Given the description of an element on the screen output the (x, y) to click on. 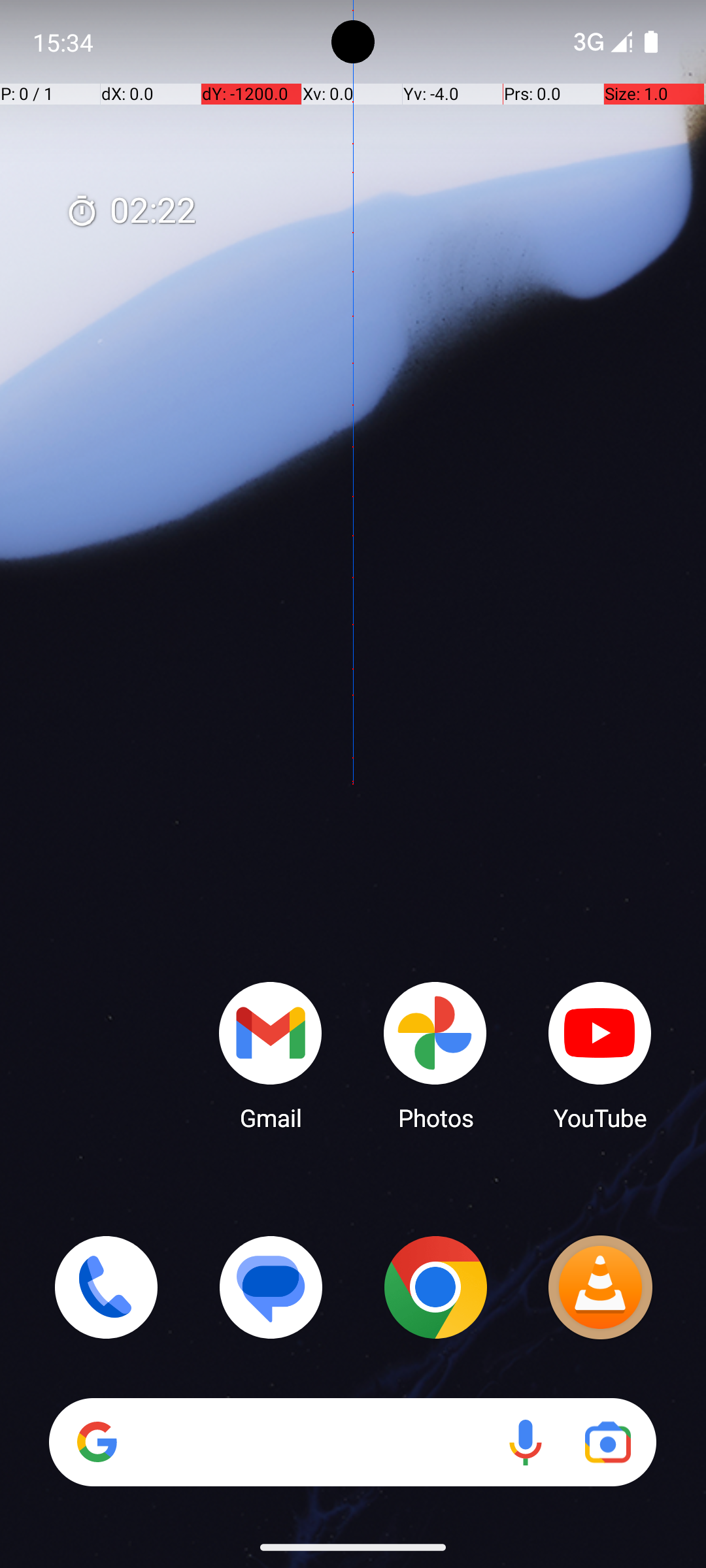
VLC Element type: android.widget.TextView (599, 1287)
02:22 Element type: android.widget.TextView (130, 210)
